Given the description of an element on the screen output the (x, y) to click on. 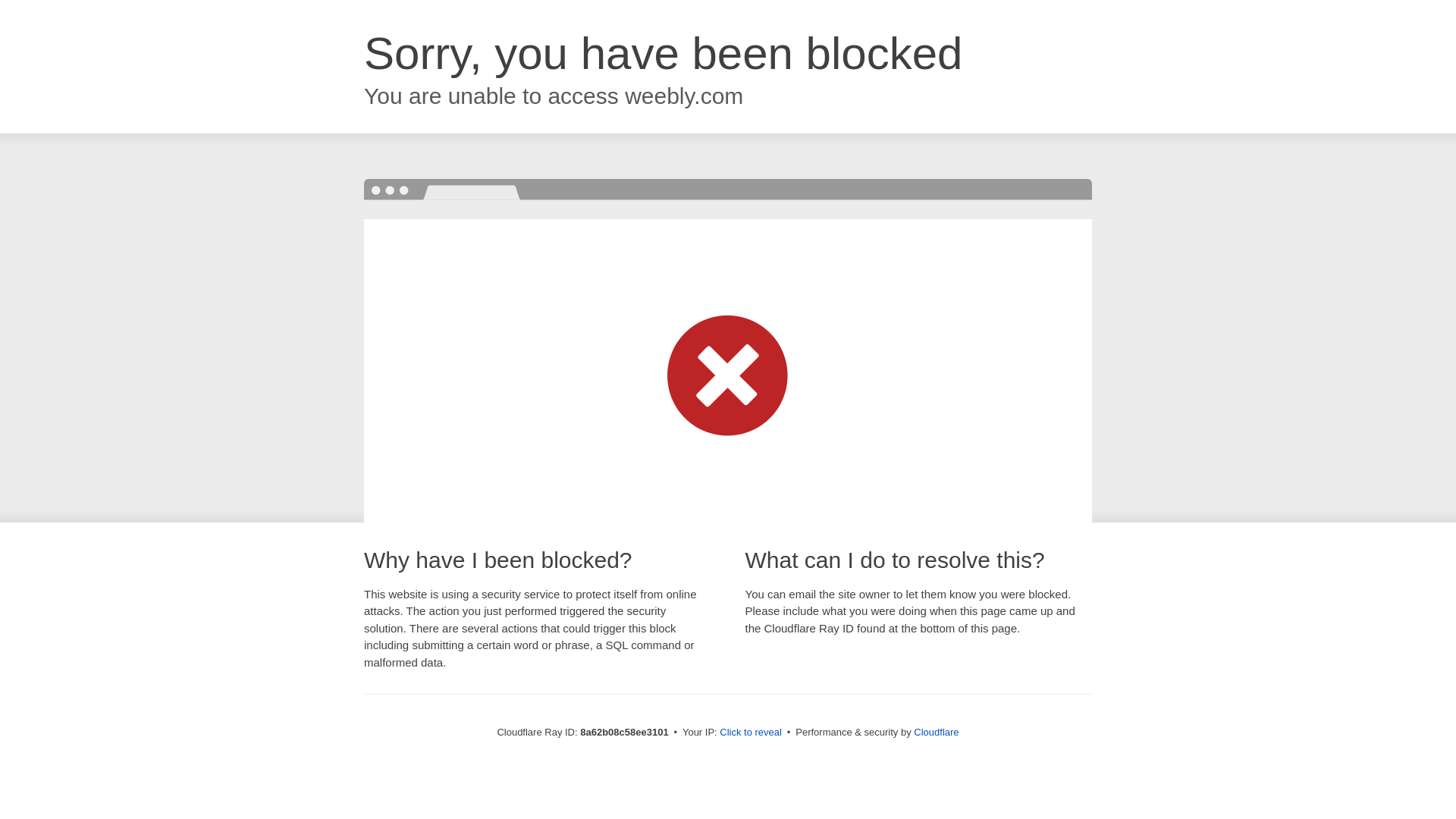
Cloudflare (936, 731)
Click to reveal (750, 732)
